Given the description of an element on the screen output the (x, y) to click on. 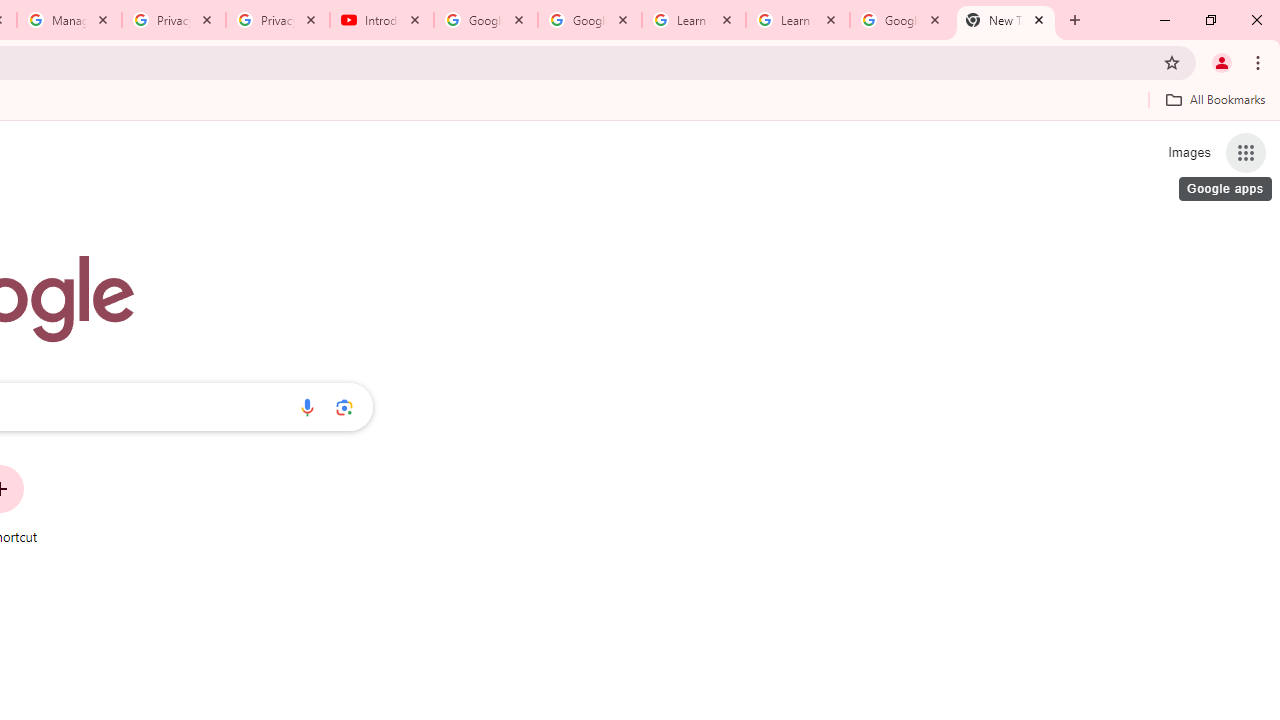
All Bookmarks (1215, 99)
Introduction | Google Privacy Policy - YouTube (381, 20)
Google Account Help (589, 20)
Search by voice (307, 407)
Search for Images  (1188, 152)
